Given the description of an element on the screen output the (x, y) to click on. 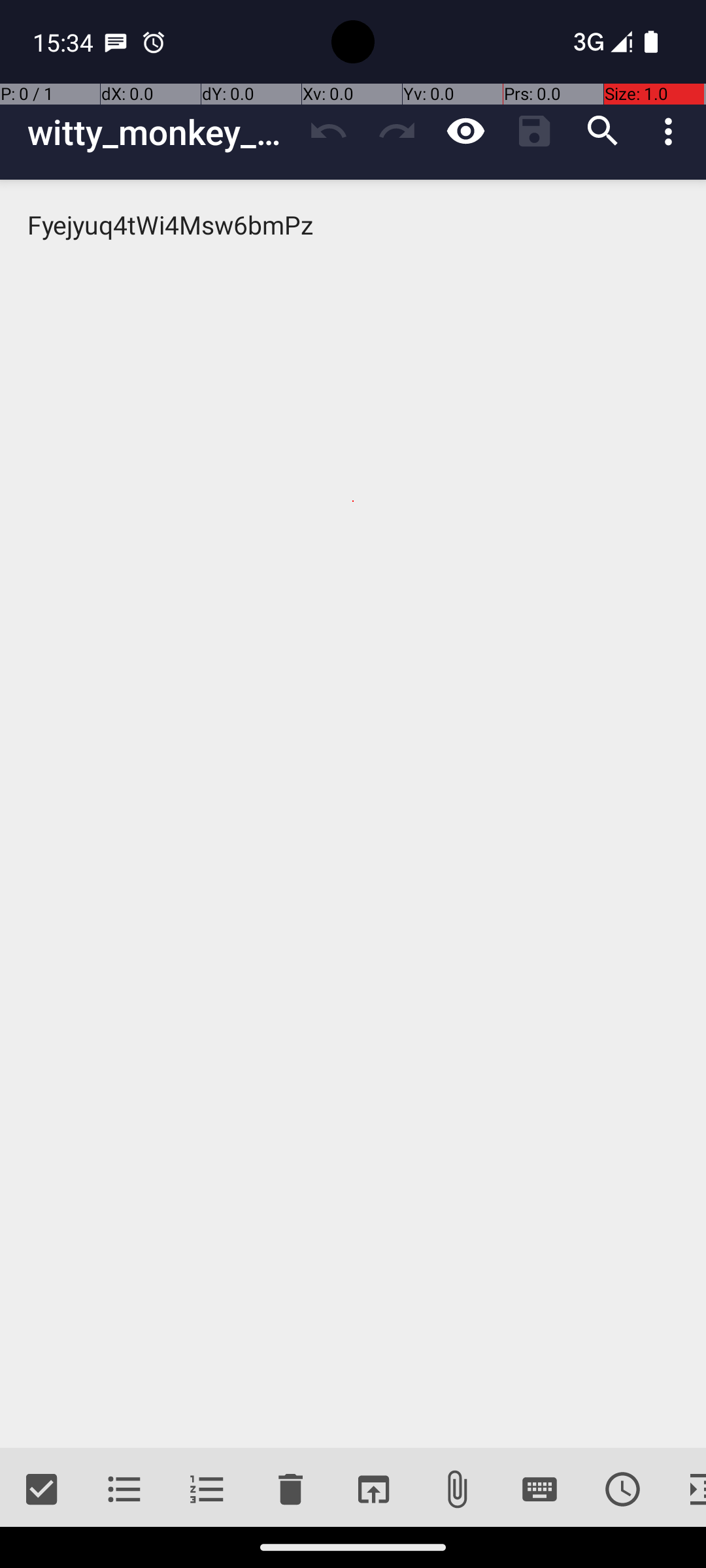
witty_monkey_final Element type: android.widget.TextView (160, 131)
Fyejyuq4tWi4Msw6bmPz
 Element type: android.widget.EditText (353, 813)
